Given the description of an element on the screen output the (x, y) to click on. 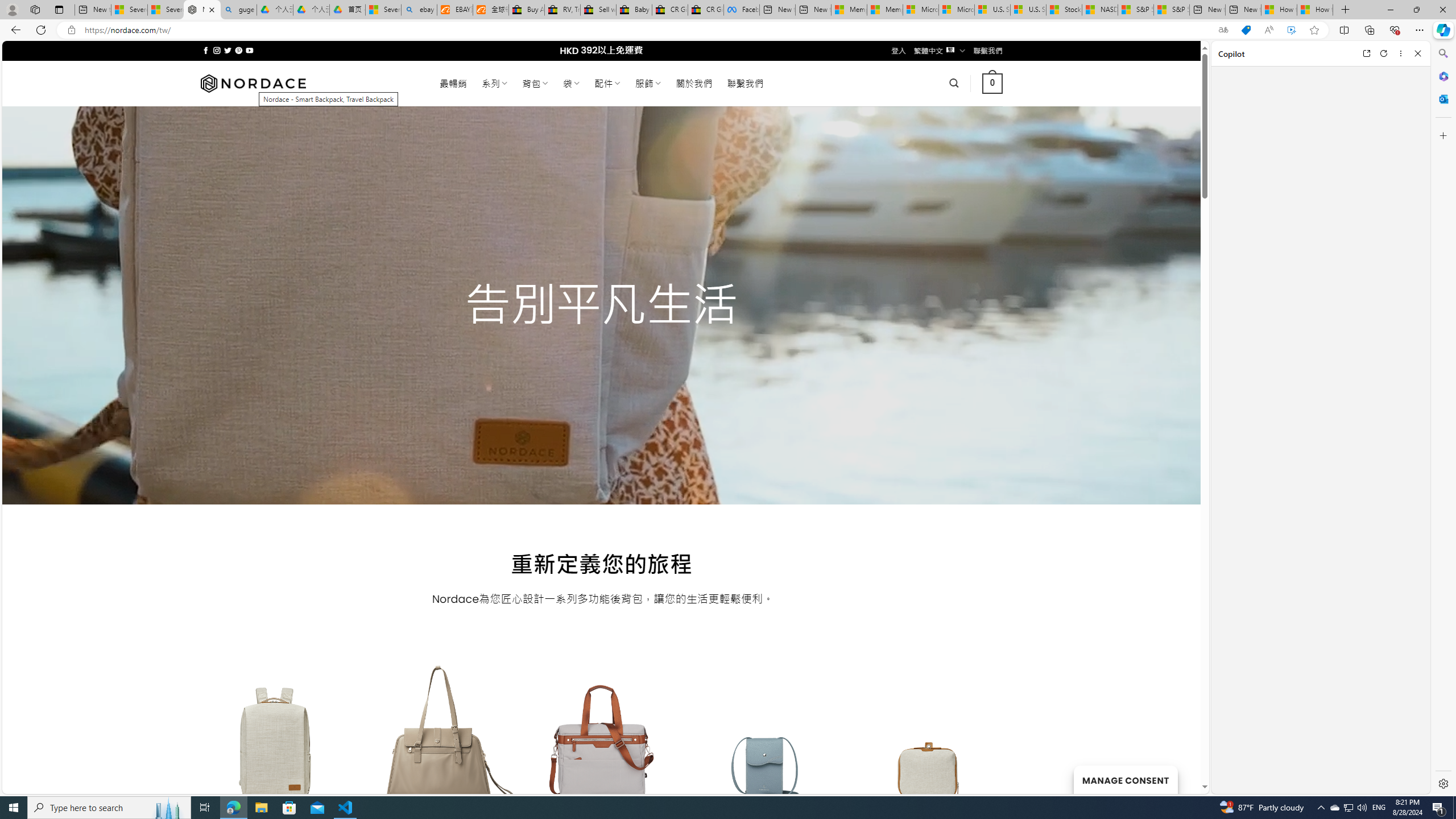
Outlook (1442, 98)
Facebook (741, 9)
Follow on Twitter (227, 50)
Follow on Facebook (205, 50)
